Given the description of an element on the screen output the (x, y) to click on. 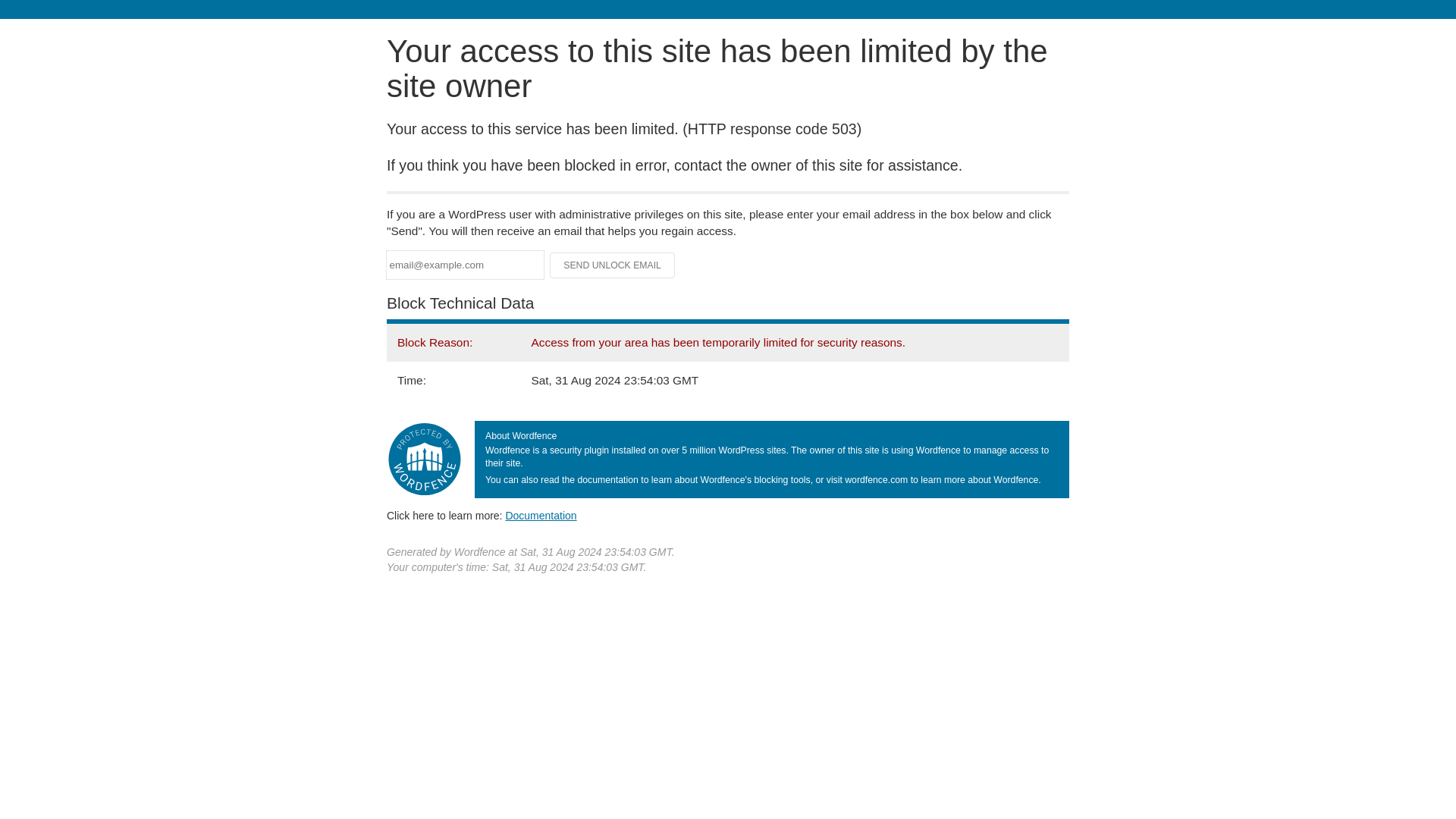
Documentation (540, 515)
Send Unlock Email (612, 265)
Send Unlock Email (612, 265)
